Given the description of an element on the screen output the (x, y) to click on. 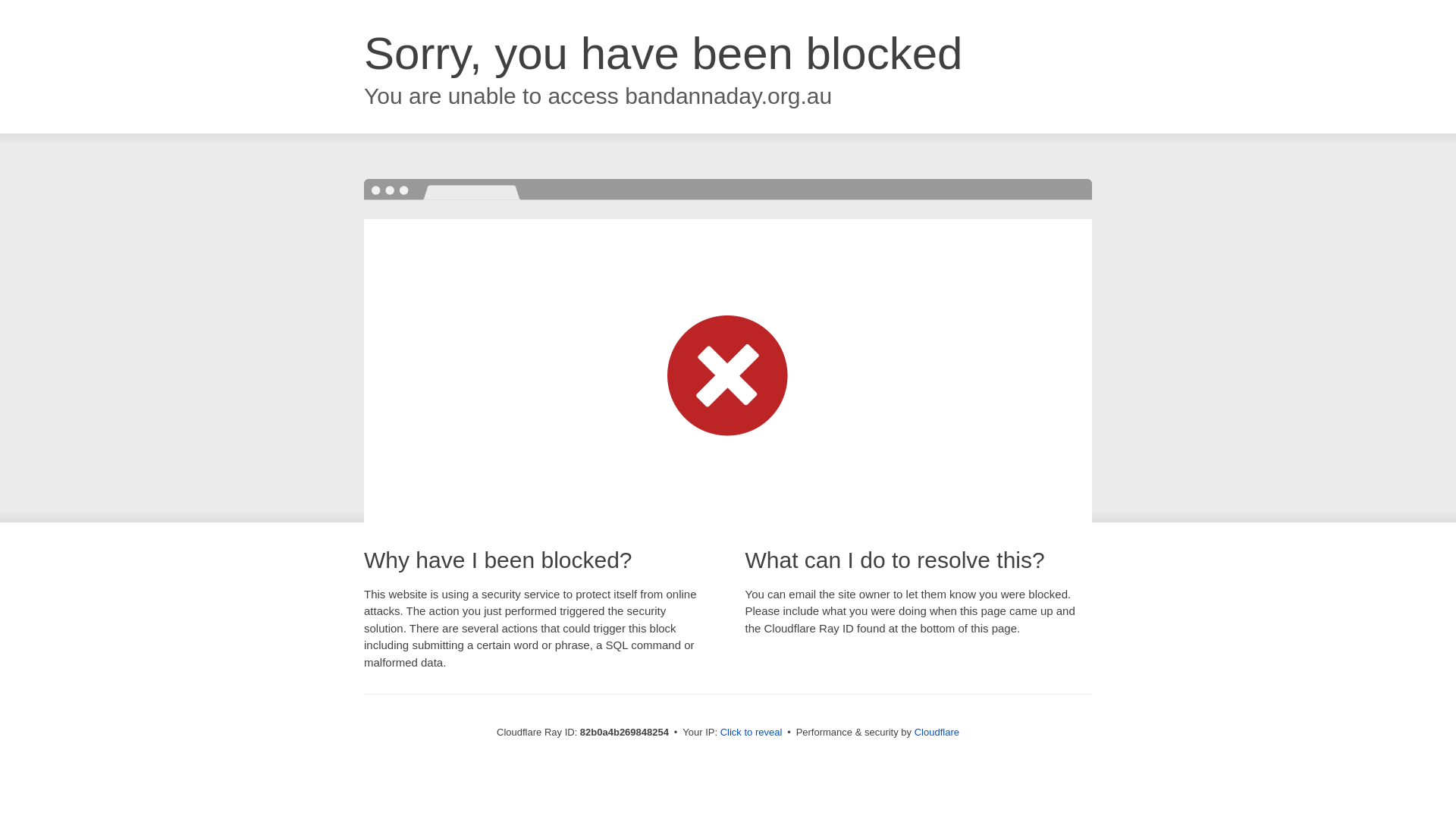
Click to reveal Element type: text (751, 732)
Cloudflare Element type: text (936, 731)
